Given the description of an element on the screen output the (x, y) to click on. 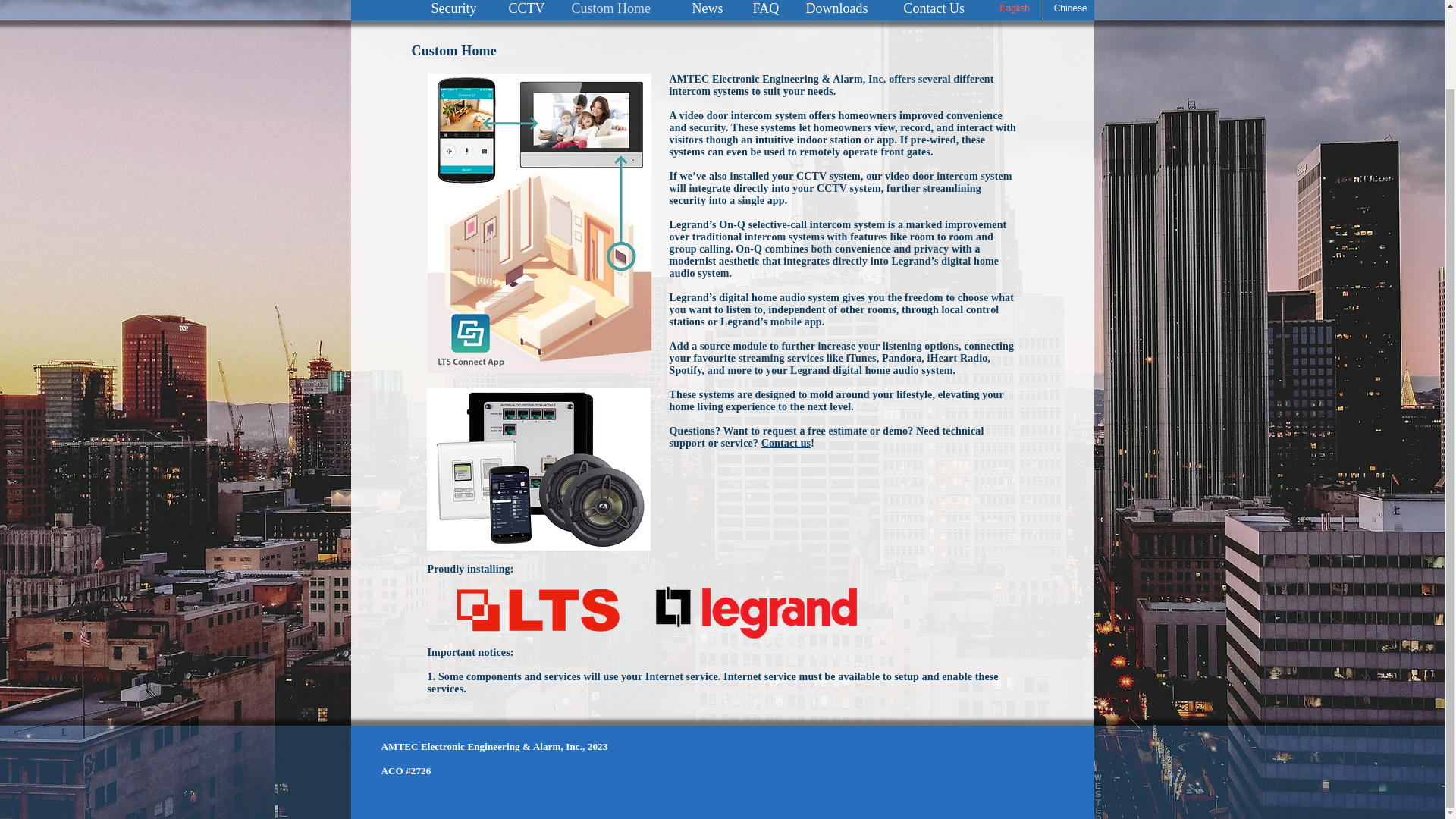
News (709, 6)
English (1015, 9)
Downloads (842, 6)
LTS logo (540, 609)
Security (457, 6)
FAQ (766, 6)
Chinese (1071, 9)
Legrand logo (757, 612)
CCTV (527, 6)
Home audio devices (537, 469)
Custom Home (619, 6)
Contact us (785, 442)
Contact Us (939, 6)
